Given the description of an element on the screen output the (x, y) to click on. 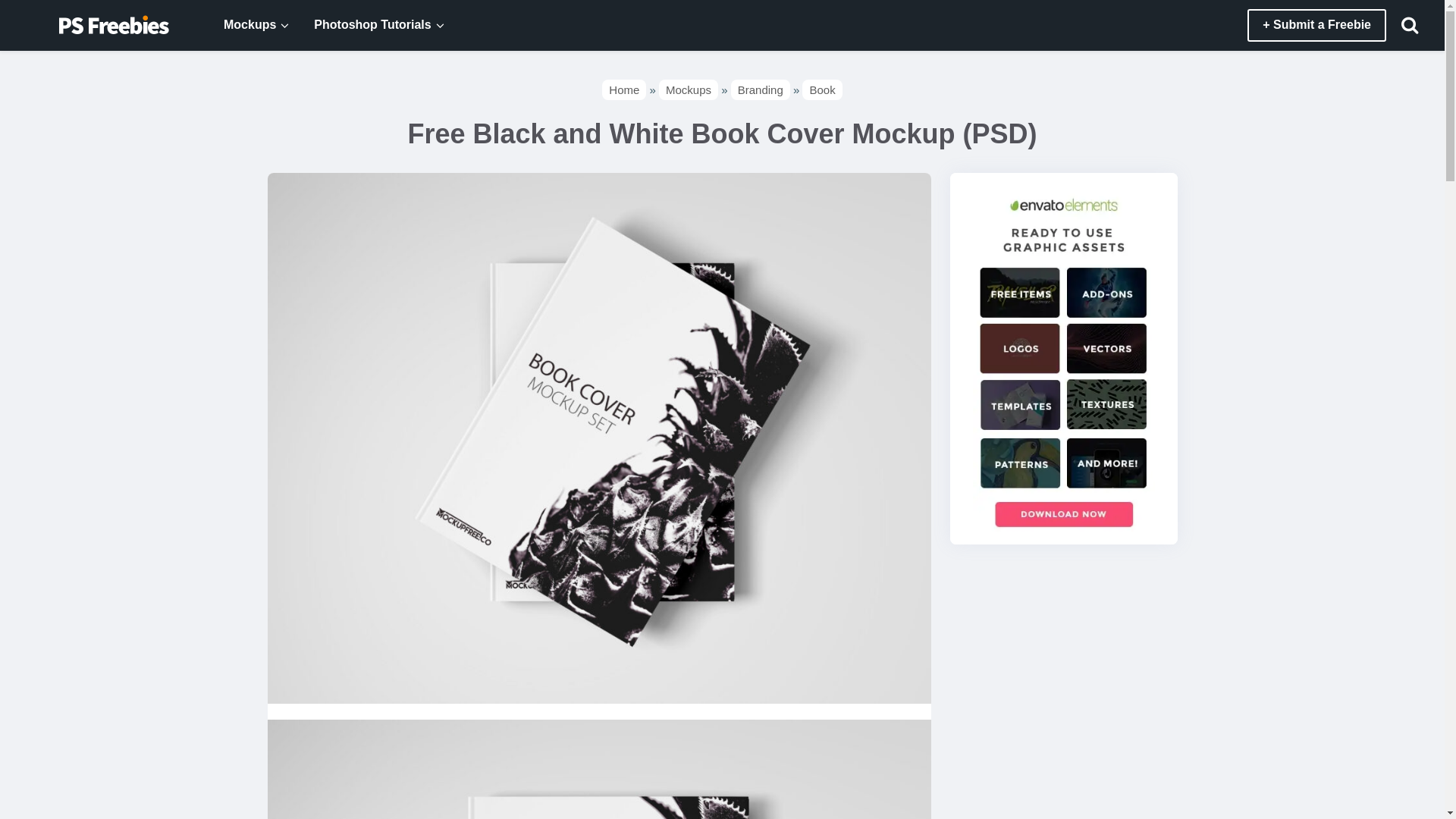
Home (624, 89)
Photoshop Tutorials (364, 25)
Mockups (241, 25)
